Given the description of an element on the screen output the (x, y) to click on. 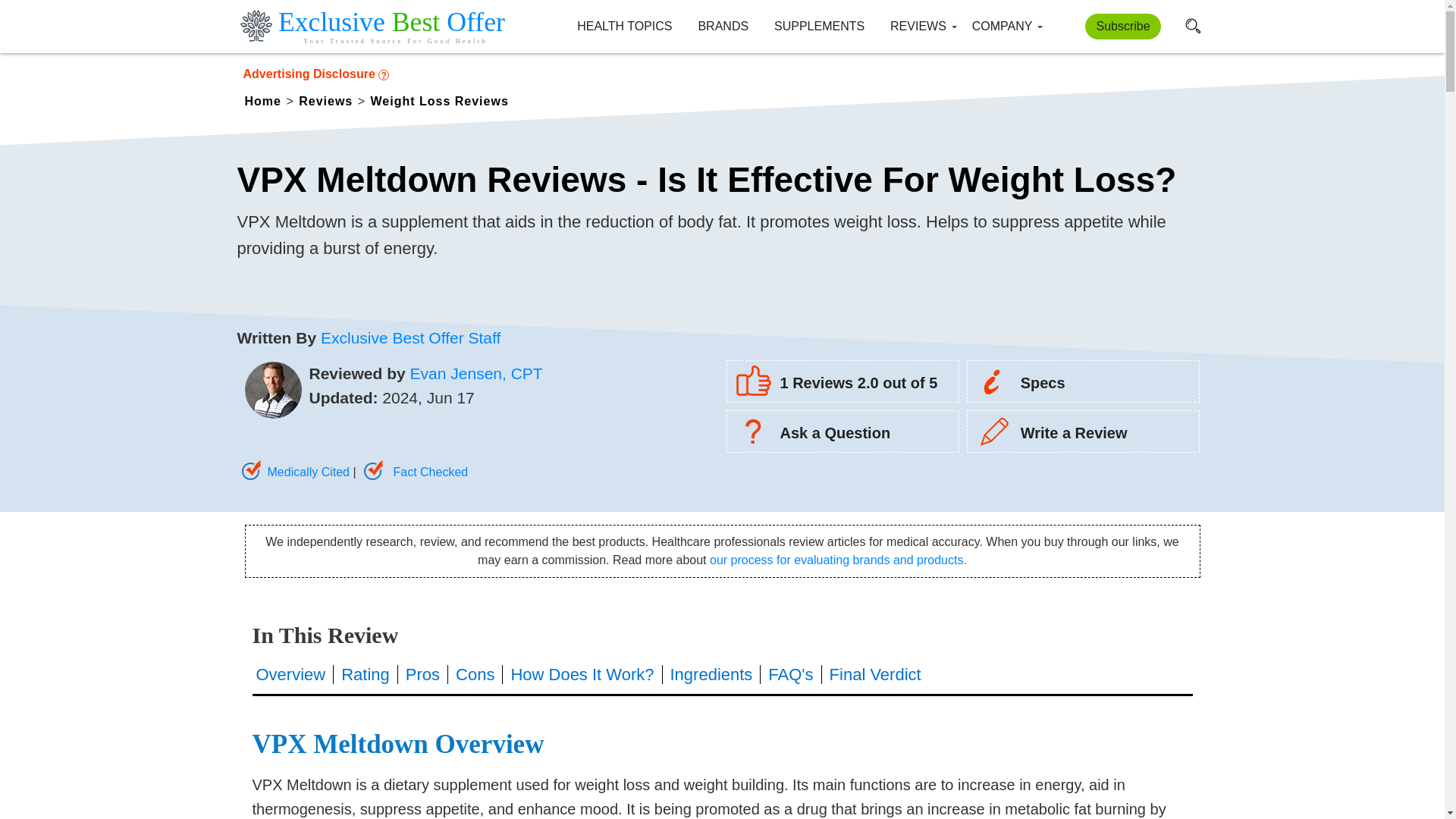
HEALTH TOPICS (623, 26)
BRANDS (722, 26)
Overview (295, 673)
Rating (365, 673)
Reviews (327, 99)
Evan Jensen, CPT (476, 372)
REVIEWS (917, 26)
Ask a Question (807, 433)
Advertising Disclosure ? (721, 73)
Exclusive Best Offer Staff (410, 337)
Specs (1016, 382)
COMPANY (1002, 26)
Medically Cited (292, 472)
our process (838, 559)
SUPPLEMENTS (819, 26)
